Given the description of an element on the screen output the (x, y) to click on. 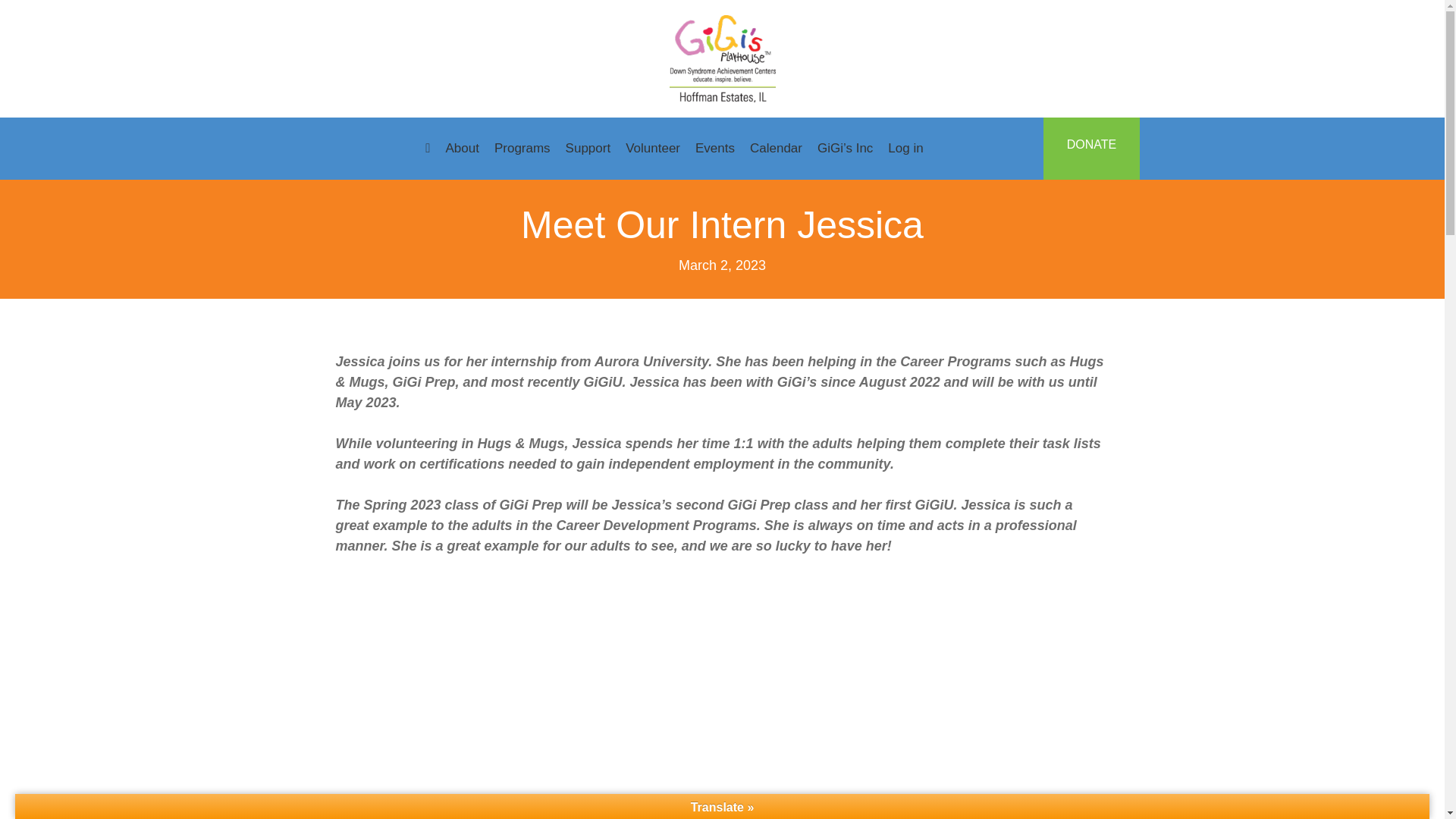
Support (587, 148)
About (462, 148)
GiGi-location---Hoffman-Estates (721, 58)
Programs (521, 148)
